Given the description of an element on the screen output the (x, y) to click on. 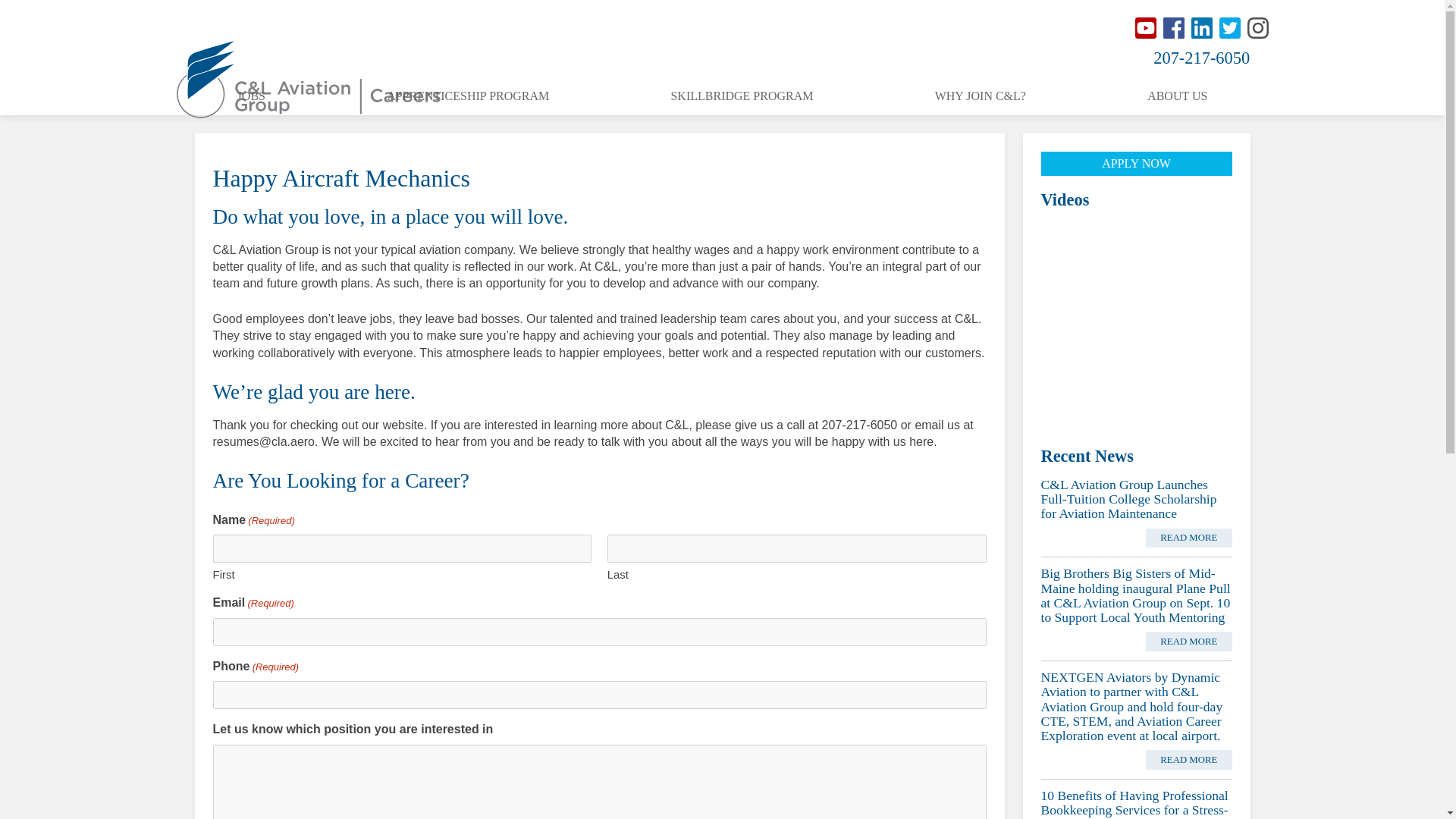
READ MORE (1188, 641)
APPRENTICESHIP PROGRAM (467, 97)
ABOUT US (1176, 97)
READ MORE (1188, 537)
Find the perfect aircraft mechanic job in beautiful Maine. (1136, 265)
JOBS (250, 97)
SKILLBRIDGE PROGRAM (740, 97)
APPLY NOW (1136, 163)
READ MORE (1188, 759)
